Given the description of an element on the screen output the (x, y) to click on. 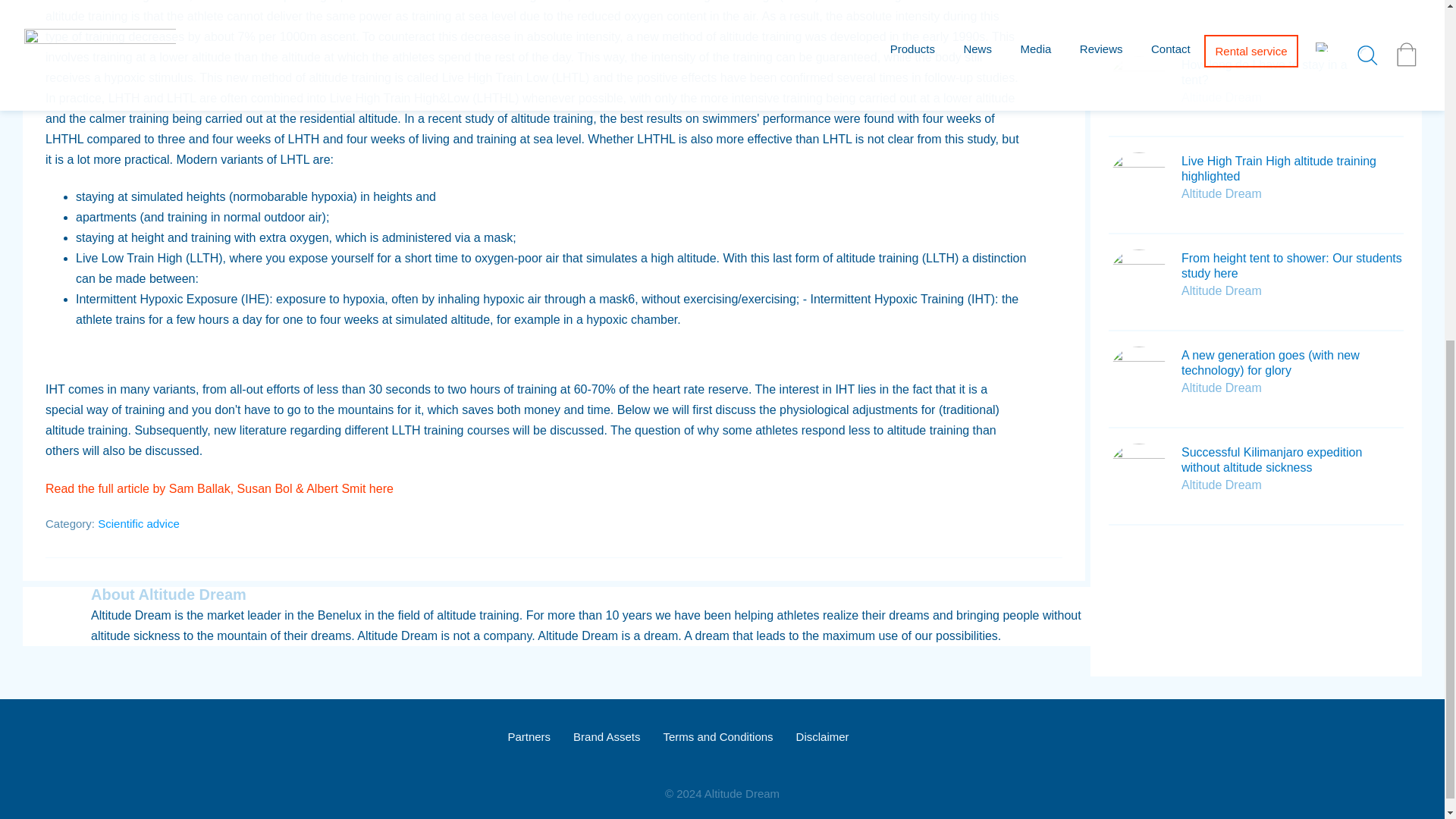
How long do I have to stay in an altitude tent? (1288, 72)
Altitude Dream (1221, 290)
From height tent to shower: Our students study here (1291, 265)
Altitude Dream (1221, 193)
Dutch (882, 737)
Altitude Dream (1221, 97)
Scientific advice (138, 522)
Live High Train High altitude training highlighted (1277, 168)
English (926, 737)
